Given the description of an element on the screen output the (x, y) to click on. 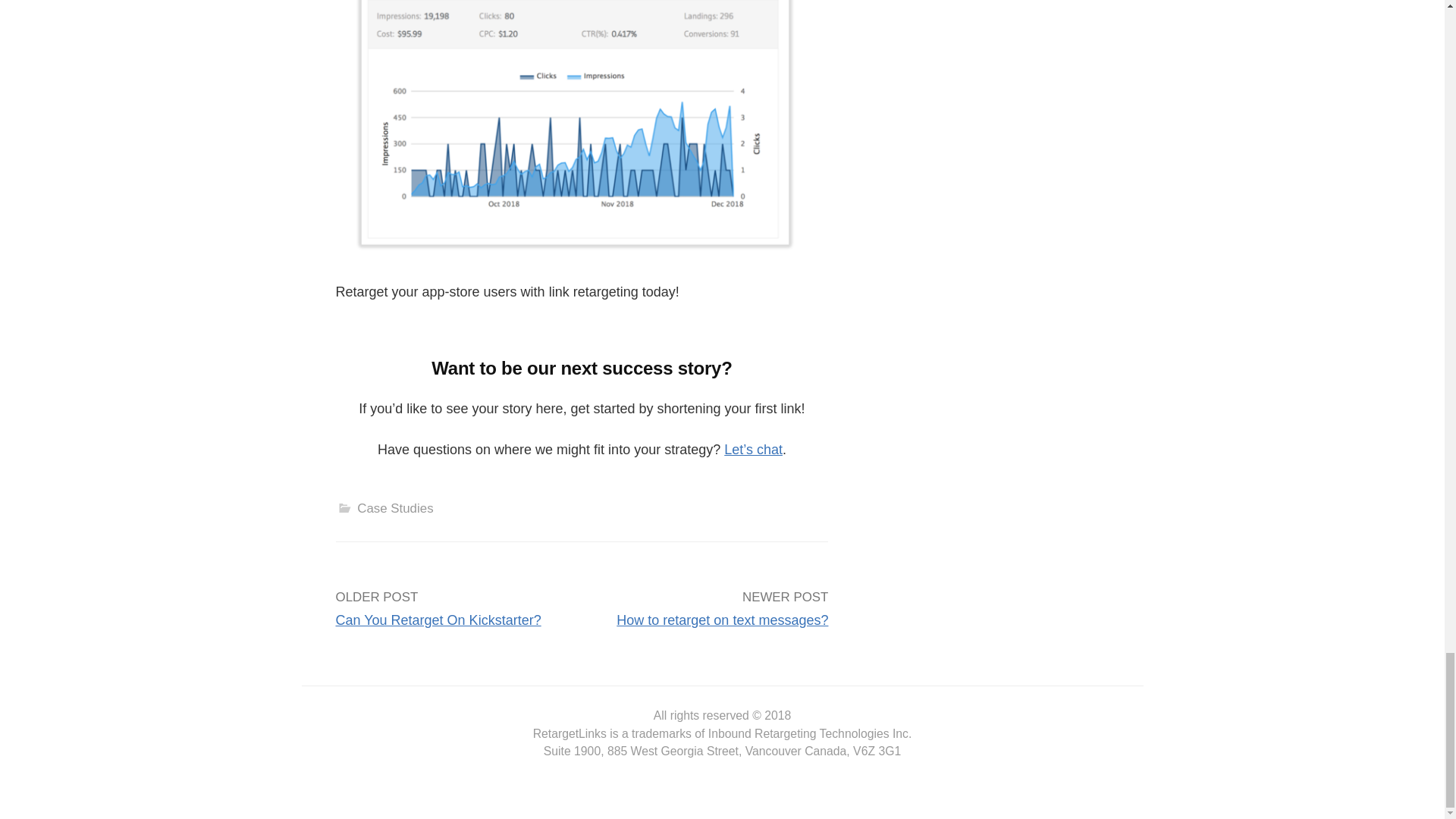
How to retarget on text messages? (721, 620)
Can You Retarget On Kickstarter? (437, 620)
Case Studies (394, 508)
